Given the description of an element on the screen output the (x, y) to click on. 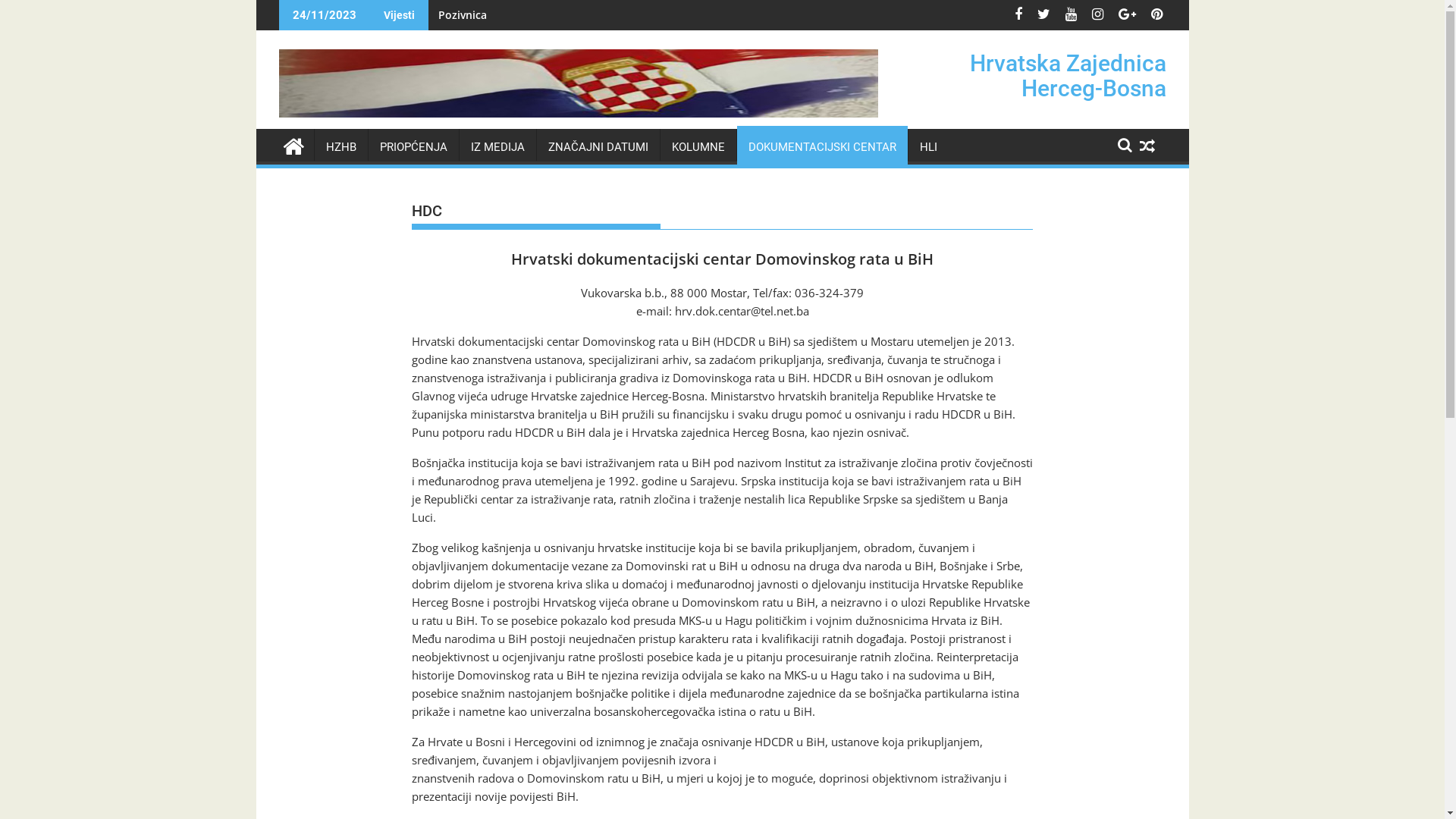
Hrvatska Zajednica Herceg-Bosna Element type: hover (293, 144)
Hrvatska Zajednica Herceg-Bosna Element type: text (1067, 75)
IZ MEDIJA Element type: text (497, 146)
HZHB Element type: text (340, 146)
KOLUMNE Element type: text (697, 146)
Pozivnica Element type: text (456, 15)
HLI Element type: text (928, 146)
DOKUMENTACIJSKI CENTAR Element type: text (822, 146)
